Given the description of an element on the screen output the (x, y) to click on. 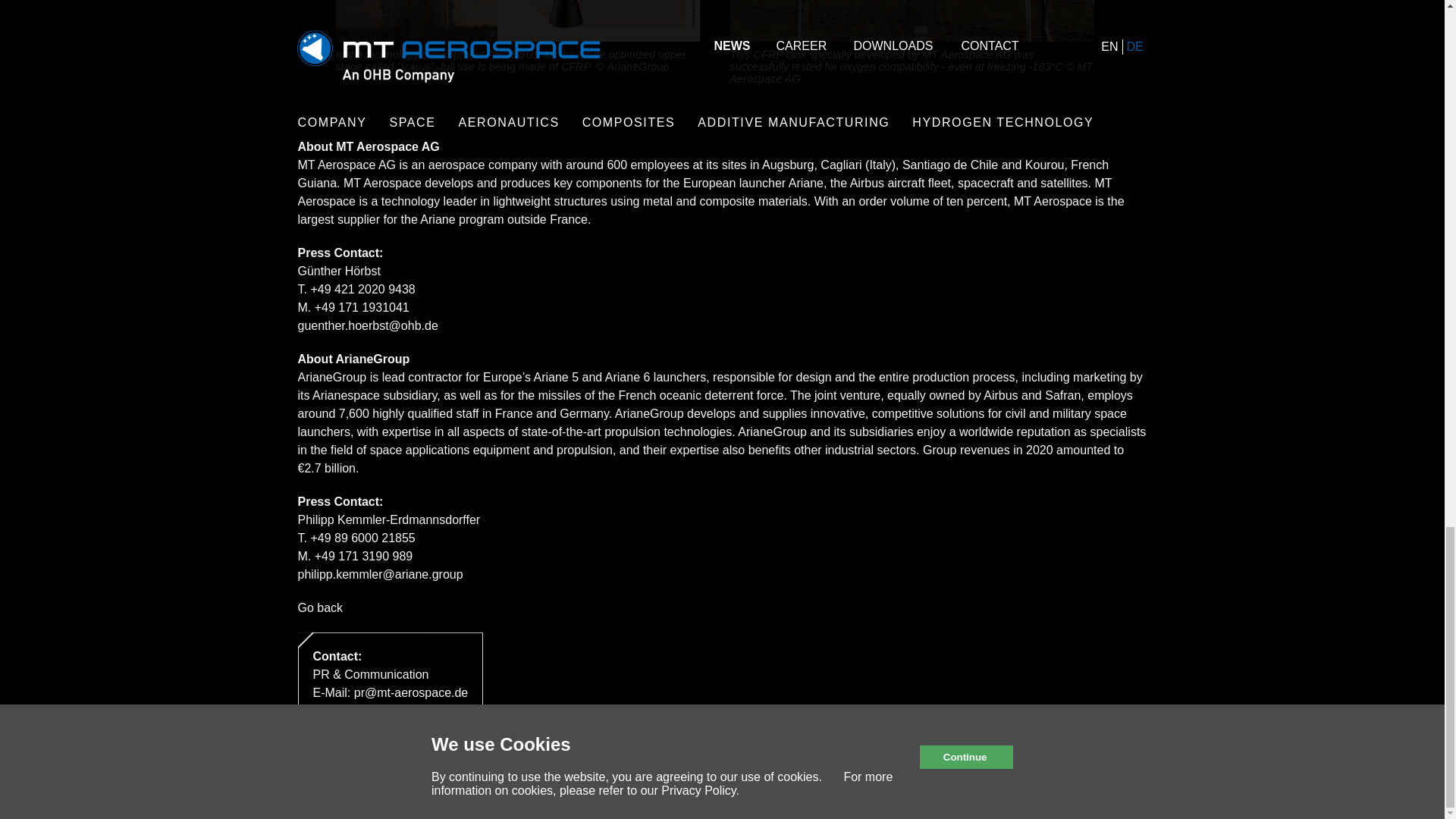
Privacy Policy (420, 781)
IMPRINT (322, 781)
Imprint (322, 781)
Go back (319, 607)
Go back (319, 607)
LINKEDIN (1118, 781)
PRIVACY POLICY (420, 781)
